Given the description of an element on the screen output the (x, y) to click on. 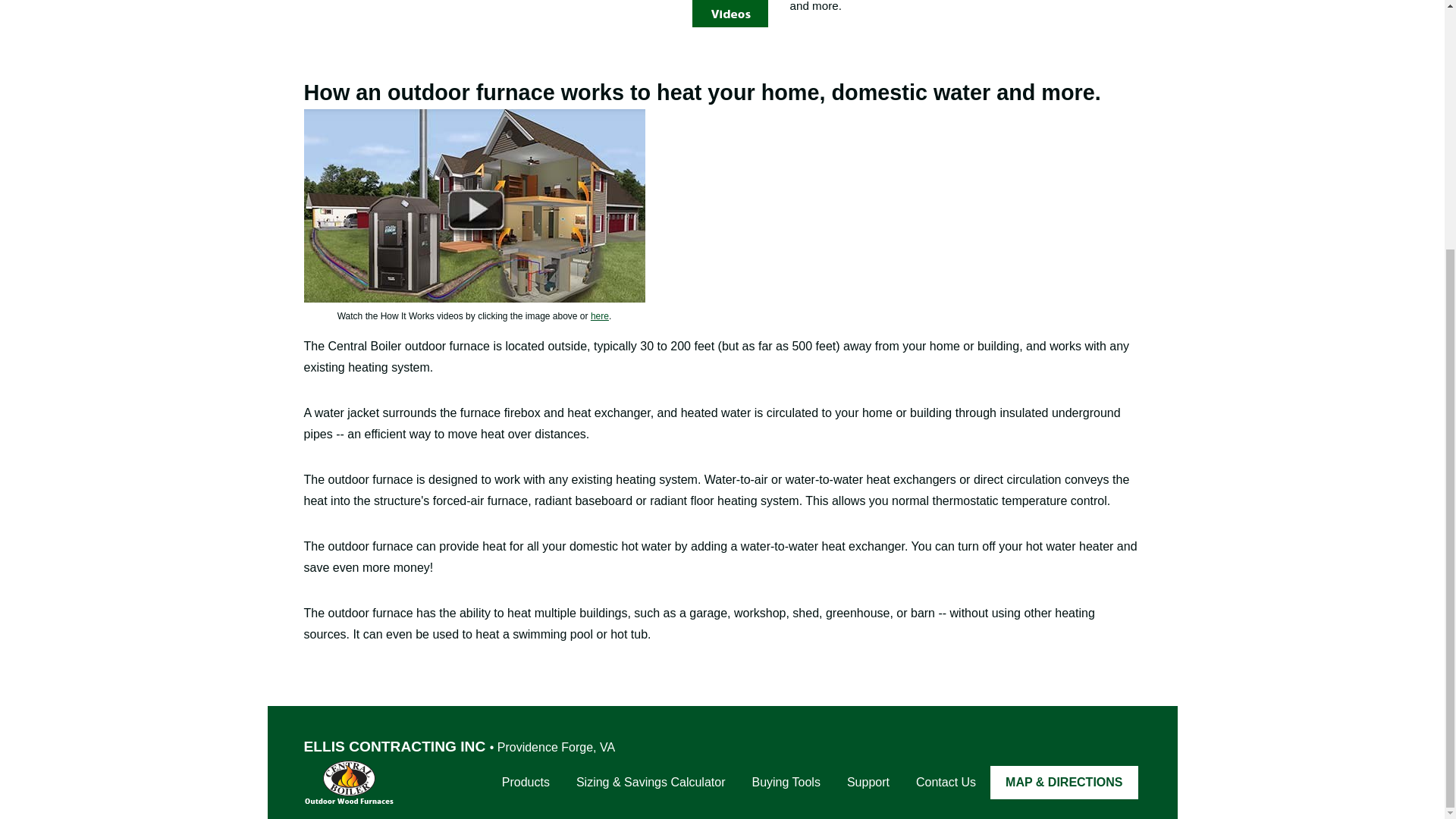
Buying Tools (785, 782)
Contact Us (945, 782)
Support (868, 782)
here (599, 316)
Products (525, 782)
